Given the description of an element on the screen output the (x, y) to click on. 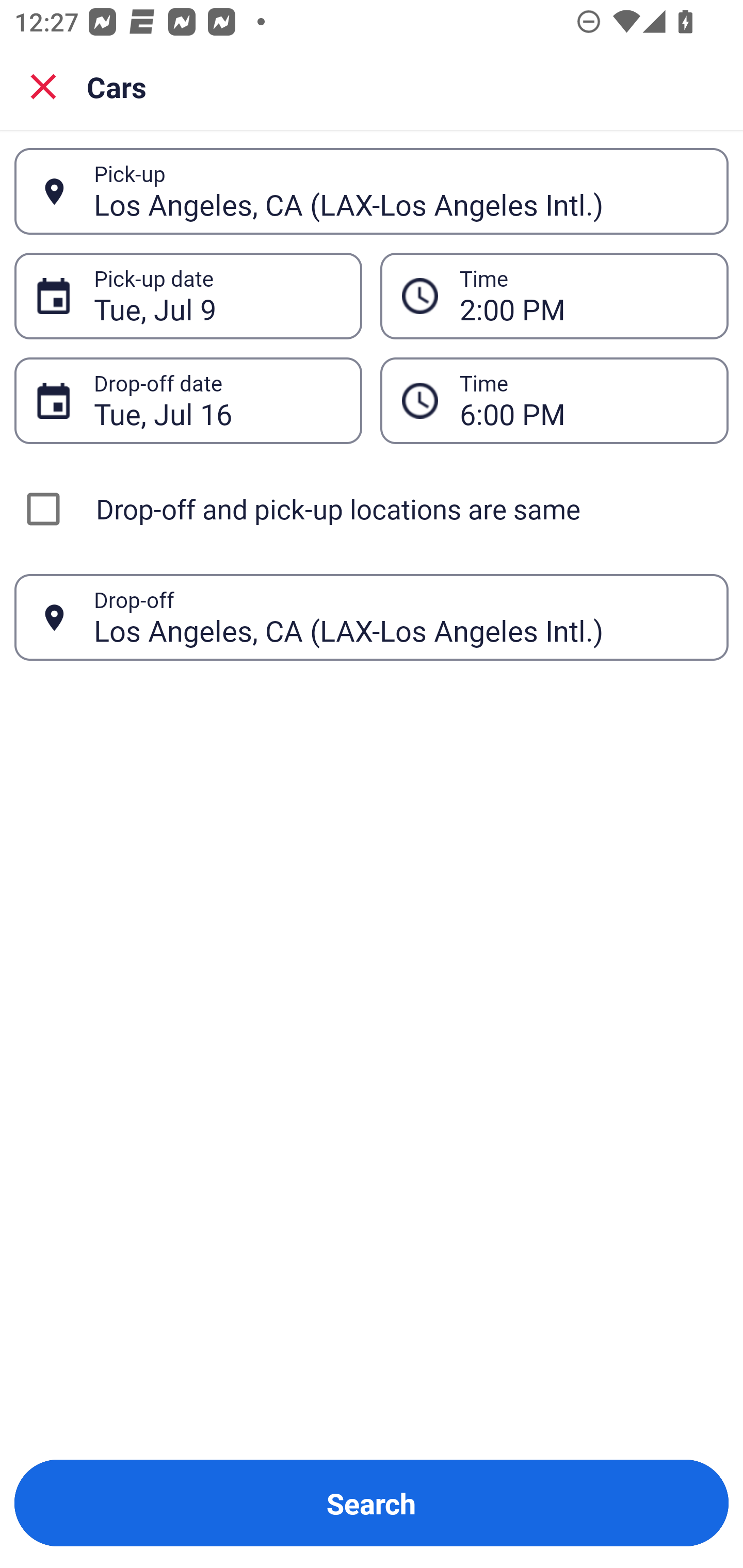
Close search screen (43, 86)
Los Angeles, CA (LAX-Los Angeles Intl.) Pick-up (371, 191)
Los Angeles, CA (LAX-Los Angeles Intl.) (399, 191)
Tue, Jul 9 Pick-up date (188, 295)
2:00 PM (554, 295)
Tue, Jul 9 (216, 296)
2:00 PM (582, 296)
Tue, Jul 16 Drop-off date (188, 400)
6:00 PM (554, 400)
Tue, Jul 16 (216, 400)
6:00 PM (582, 400)
Drop-off and pick-up locations are same (371, 508)
Los Angeles, CA (LAX-Los Angeles Intl.) Drop-off (371, 616)
Los Angeles, CA (LAX-Los Angeles Intl.) (399, 616)
Search Button Search (371, 1502)
